Given the description of an element on the screen output the (x, y) to click on. 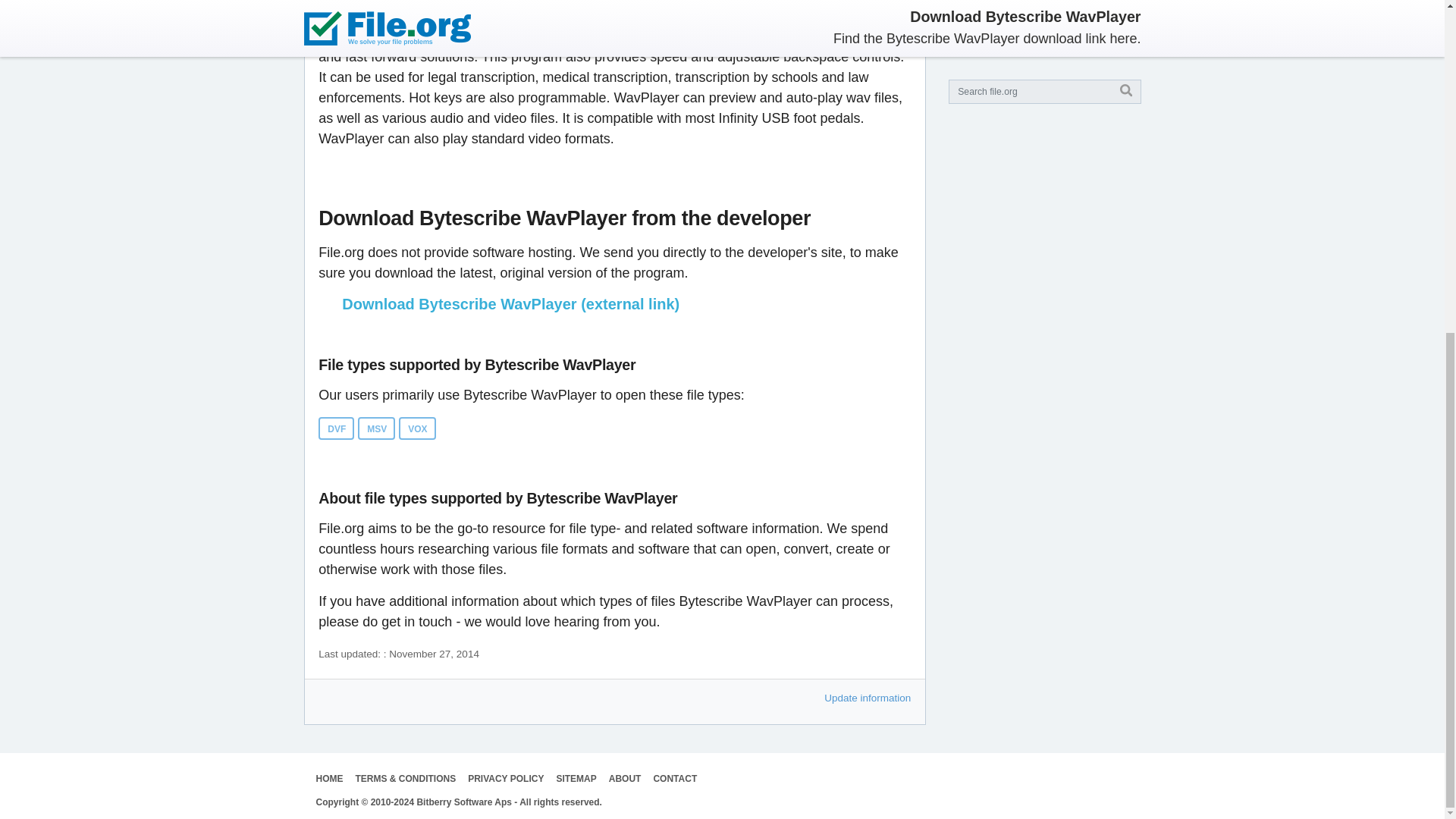
MSV (376, 427)
SITEMAP (575, 778)
CONTACT (674, 778)
VOX (416, 427)
ABOUT (625, 778)
DVF (335, 427)
PRIVACY POLICY (505, 778)
Update information (867, 697)
HOME (328, 778)
Click to download Bytescribe WavPlayer (614, 303)
